Given the description of an element on the screen output the (x, y) to click on. 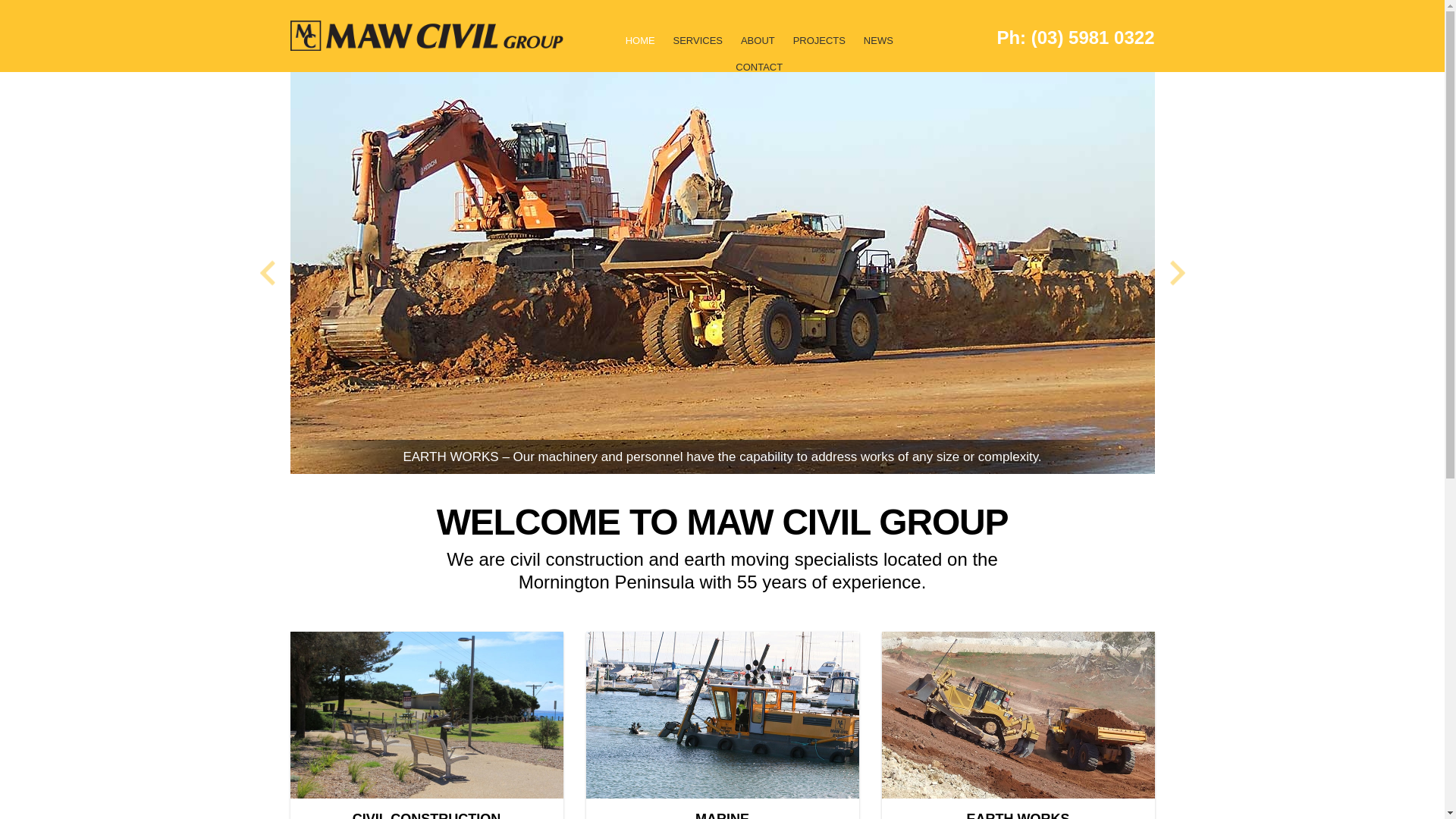
ABOUT Element type: text (757, 47)
PROJECTS Element type: text (819, 47)
SERVICES Element type: text (698, 47)
CONTACT Element type: text (759, 73)
HOME Element type: text (640, 47)
NEWS Element type: text (878, 47)
